Given the description of an element on the screen output the (x, y) to click on. 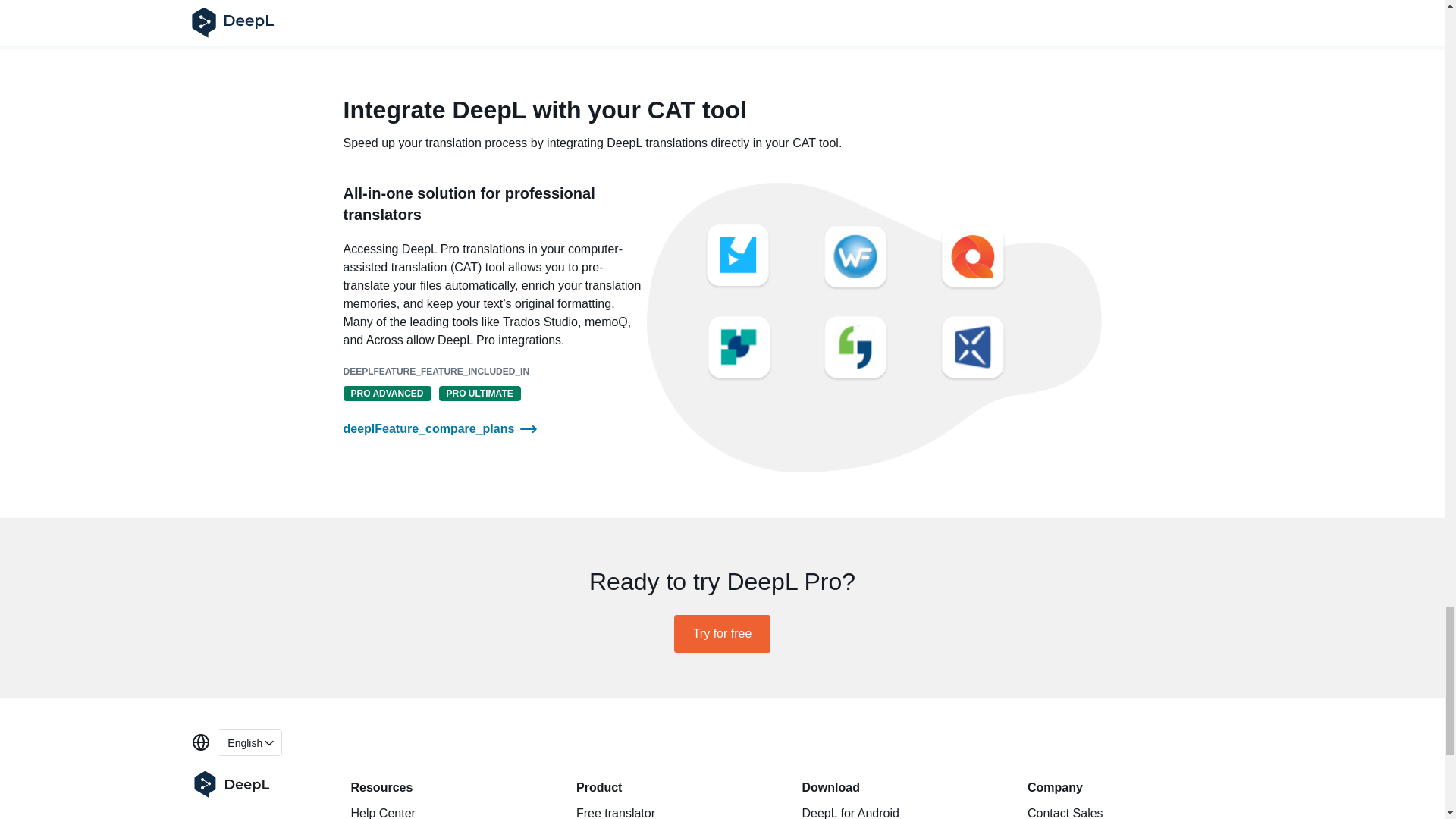
Free translator (673, 812)
DeepL for Android (899, 812)
Help Center (249, 741)
Try for free (448, 812)
